Given the description of an element on the screen output the (x, y) to click on. 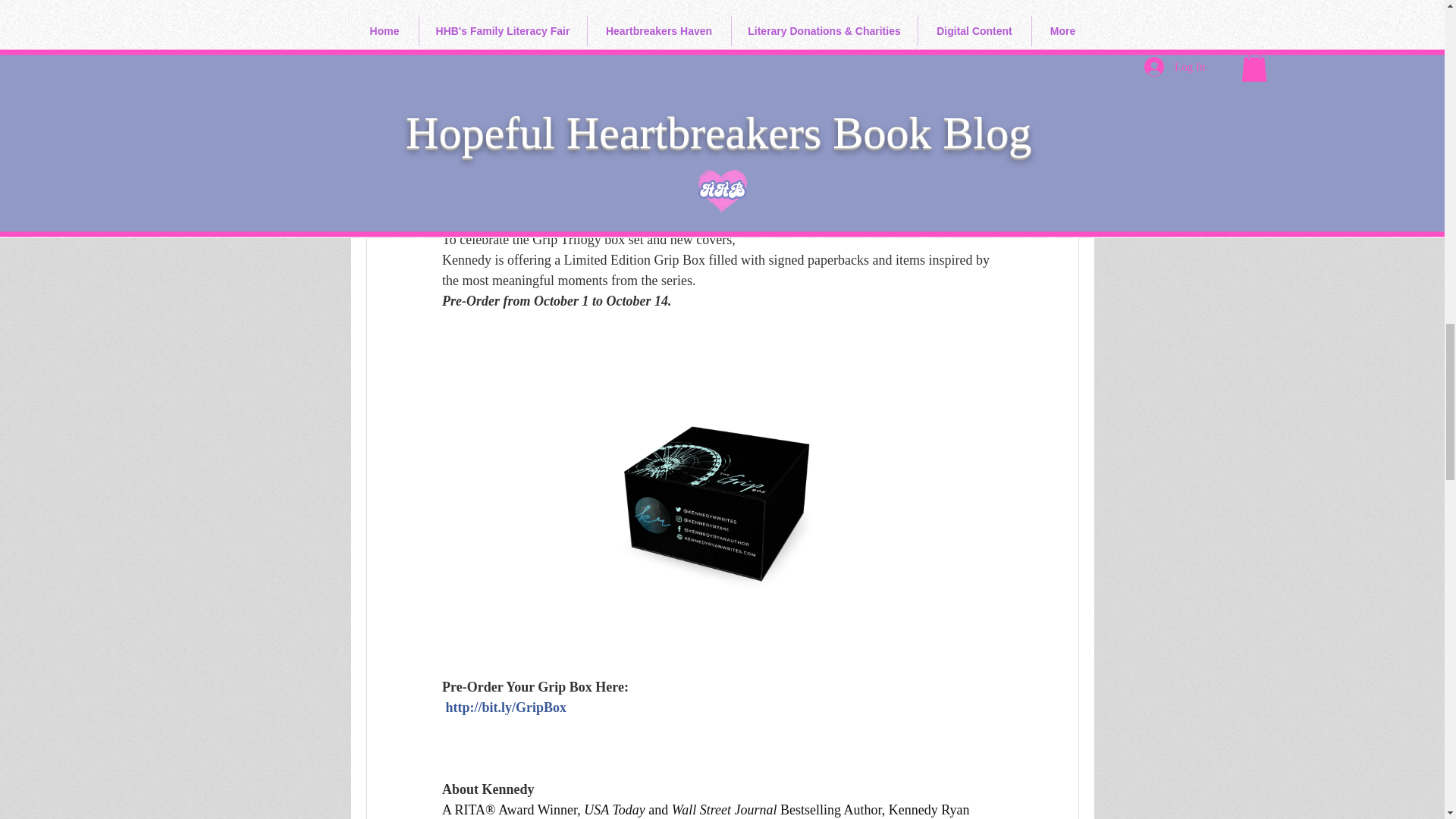
Get Your Grip Box! (498, 218)
